Given the description of an element on the screen output the (x, y) to click on. 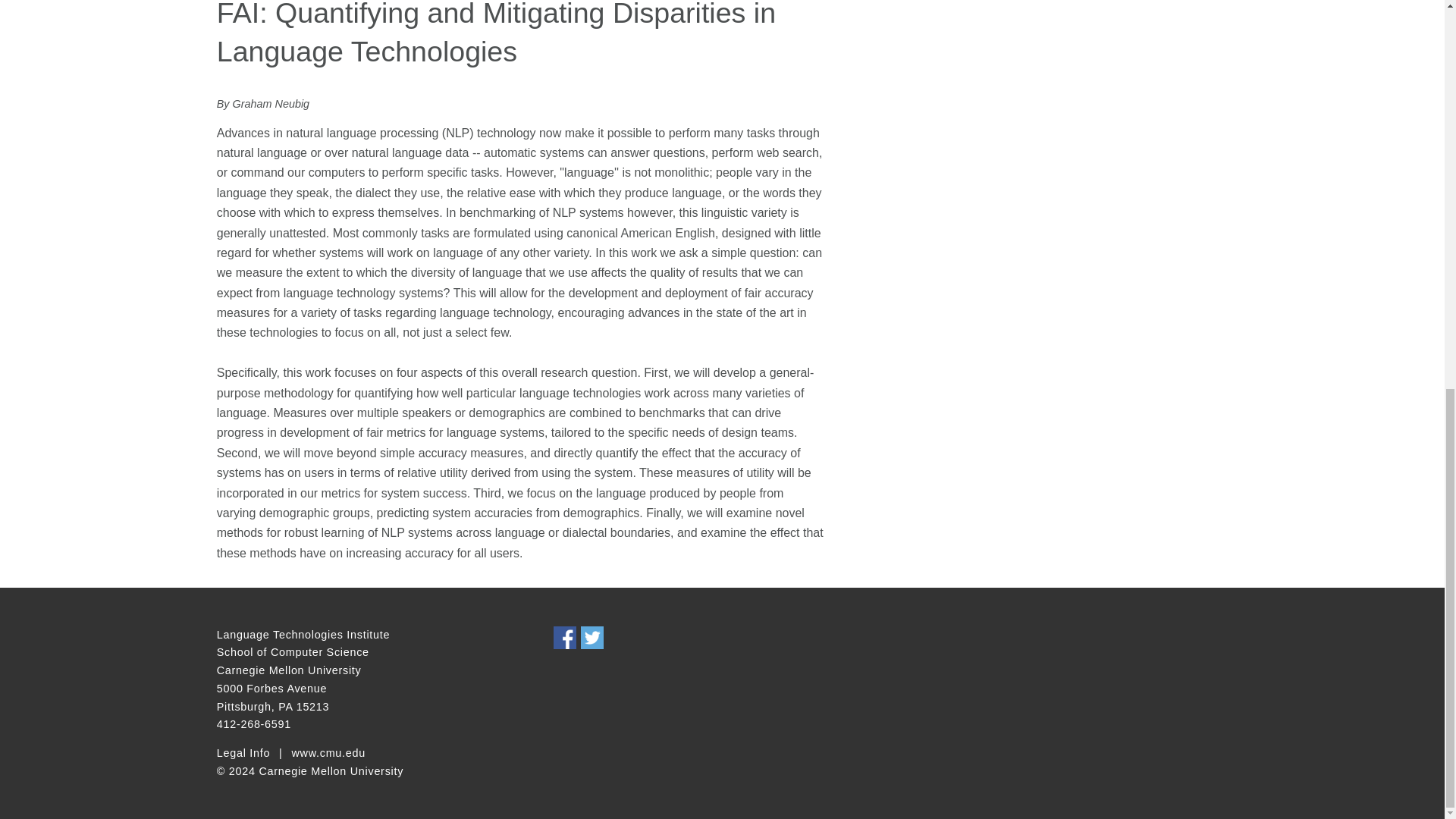
Legal Info (242, 753)
CMU on Facebook (564, 637)
CMU on Twitter (592, 637)
www.cmu.edu (328, 753)
